Given the description of an element on the screen output the (x, y) to click on. 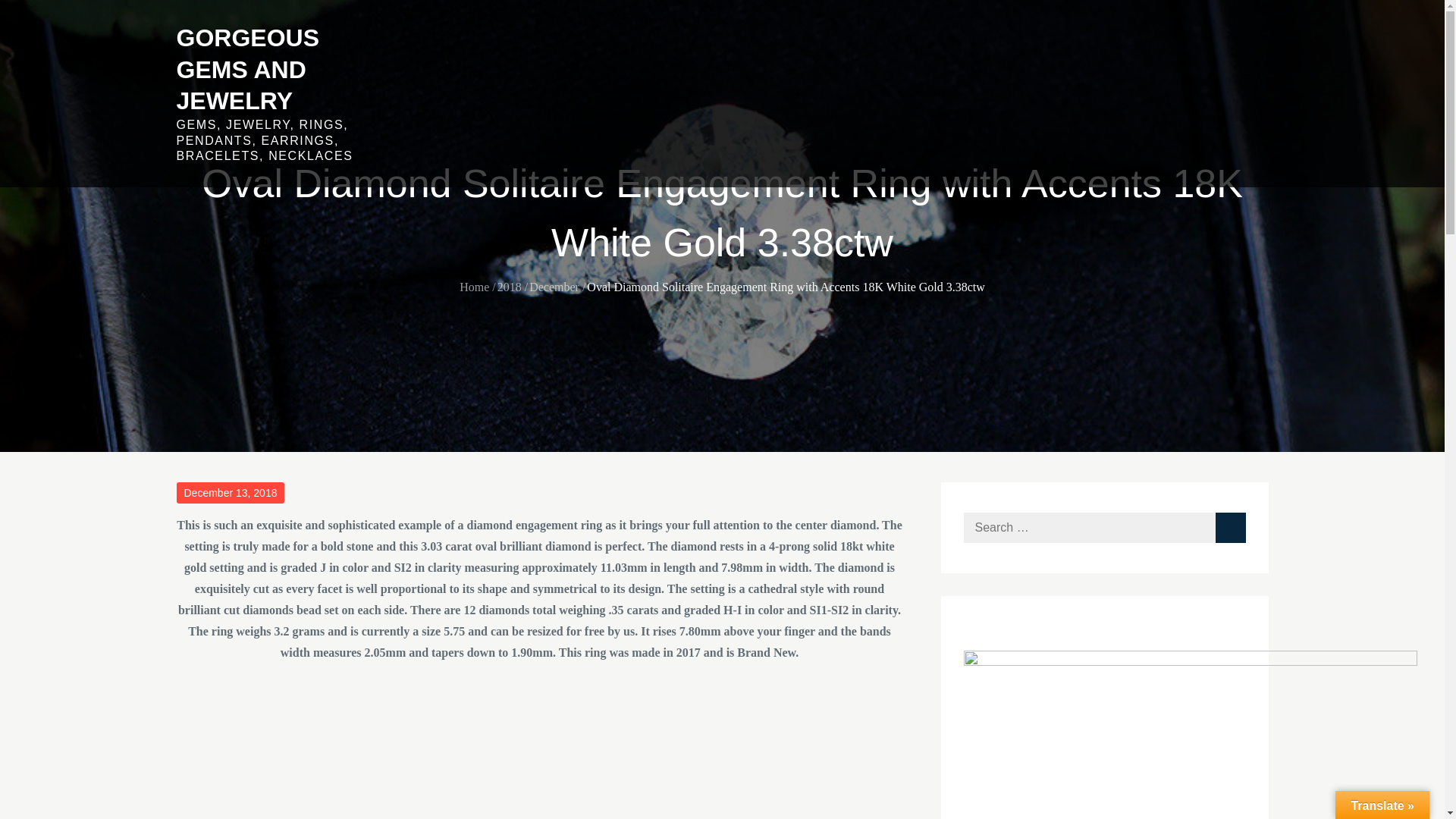
Home (474, 286)
Search (1229, 527)
December 13, 2018 (229, 492)
2018 (509, 286)
December (554, 286)
GORGEOUS GEMS AND JEWELRY (247, 69)
